Given the description of an element on the screen output the (x, y) to click on. 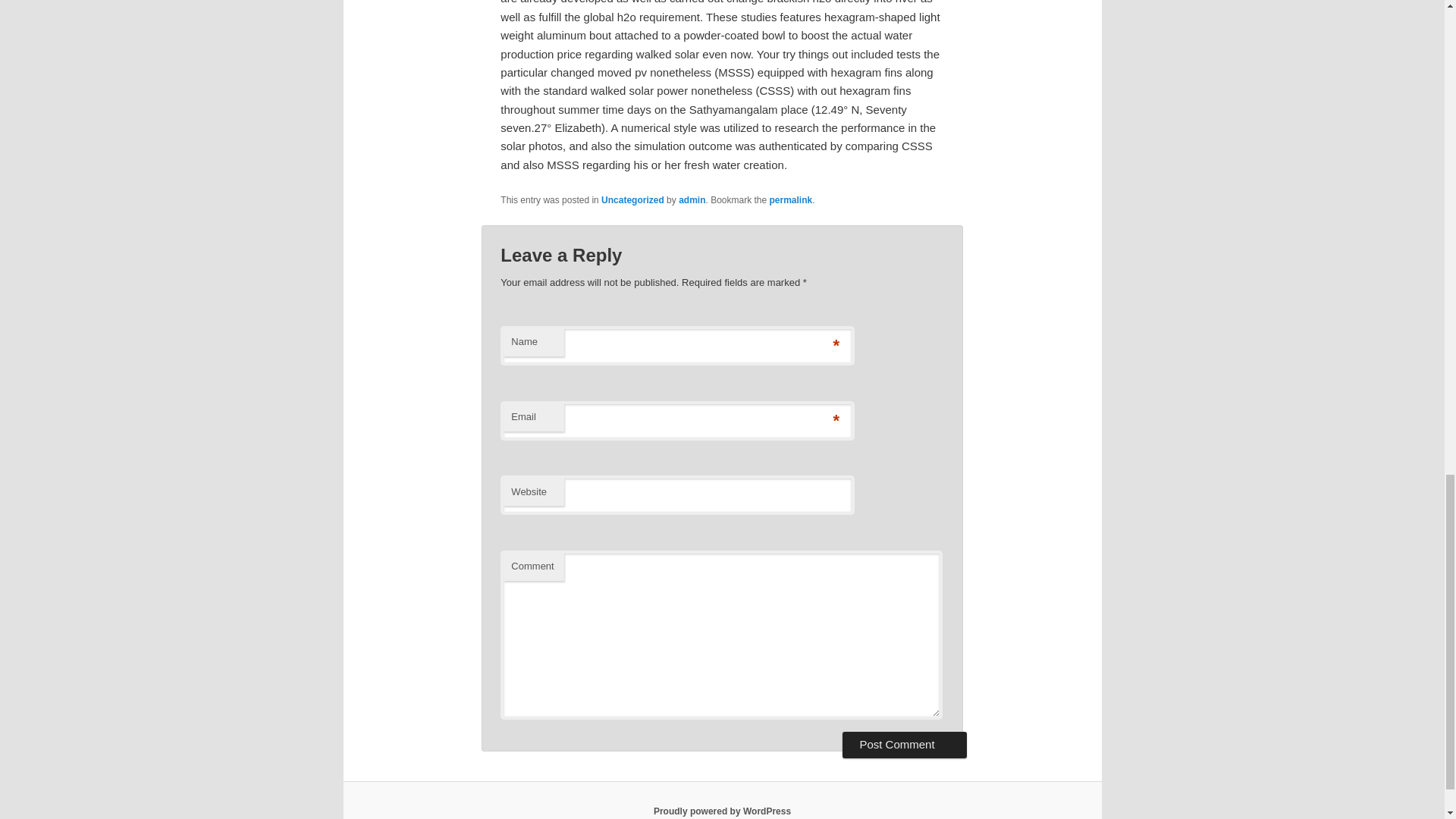
Uncategorized (632, 199)
Post Comment (904, 744)
permalink (791, 199)
Proudly powered by WordPress (721, 810)
admin (691, 199)
Post Comment (904, 744)
Semantic Personal Publishing Platform (721, 810)
View all posts in Uncategorized (632, 199)
